Given the description of an element on the screen output the (x, y) to click on. 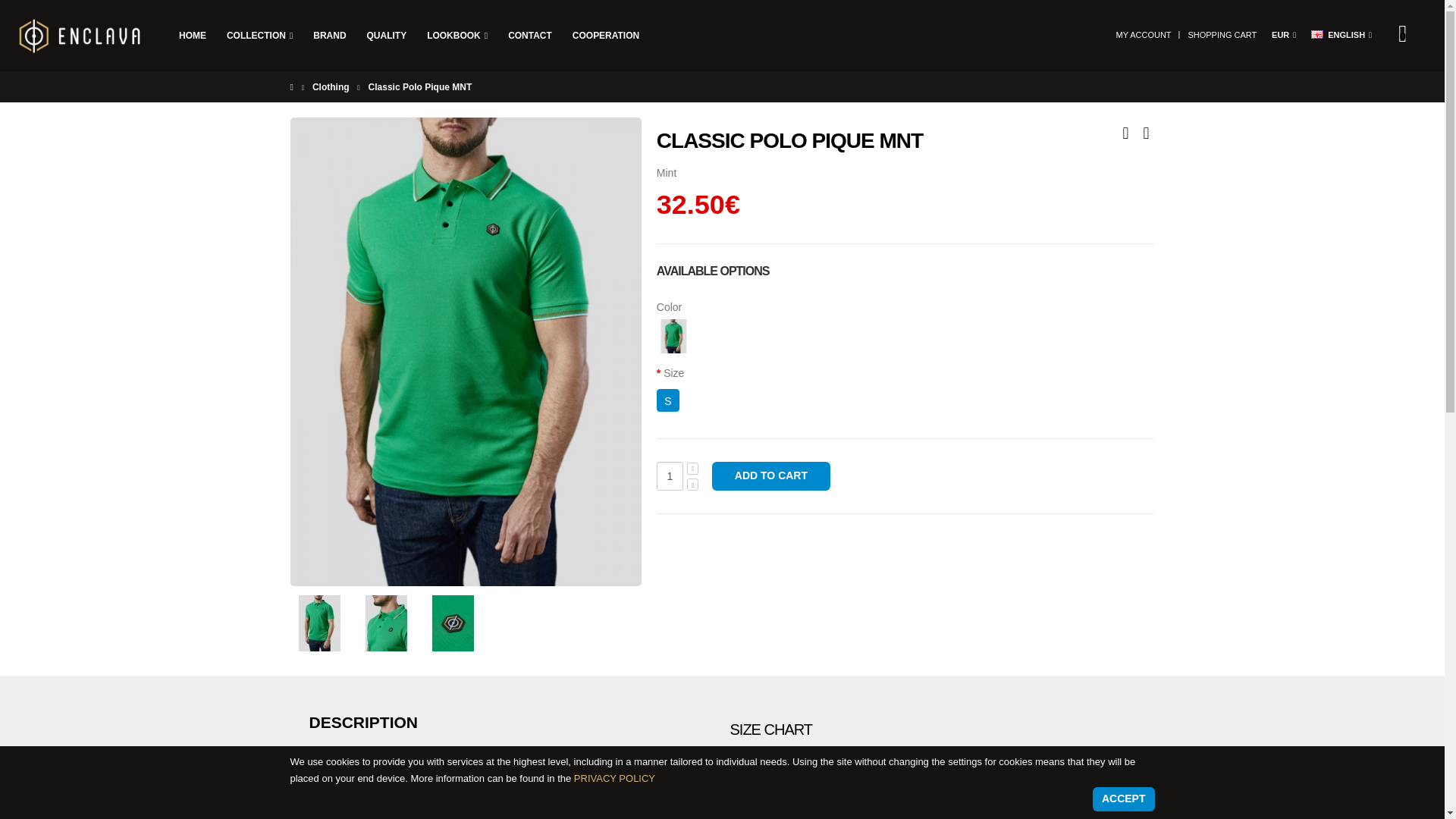
Classic Polo Pique MNT (385, 622)
Classic Polo Pique MNT (319, 622)
Add to Cart (770, 475)
PRIVACY POLICY (614, 778)
Classic Polo Pique MNT (452, 622)
English (1317, 34)
Enclava (79, 37)
1 (669, 475)
